Given the description of an element on the screen output the (x, y) to click on. 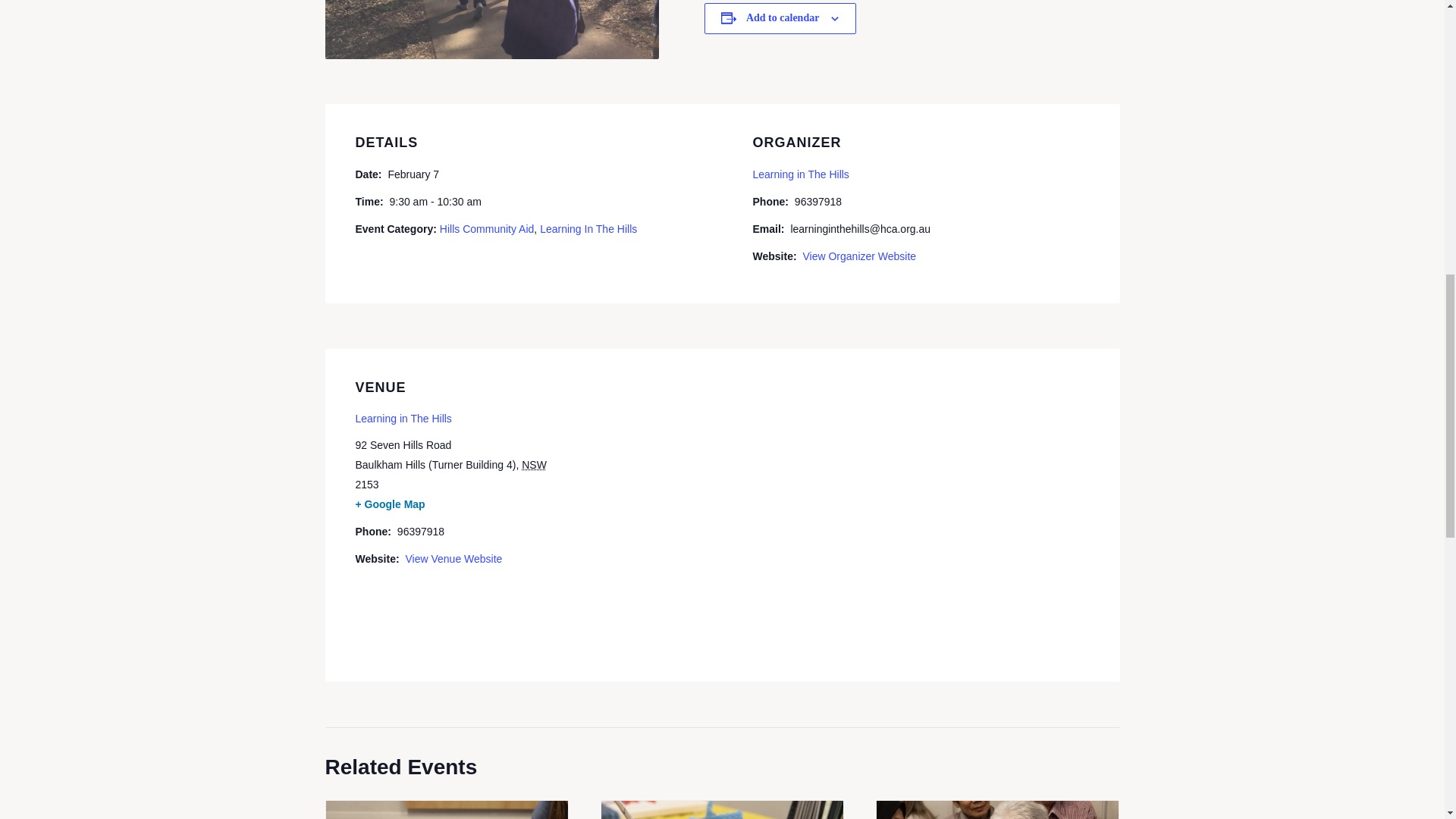
2024-02-07 (413, 174)
Learning in The Hills (800, 174)
Add to calendar (781, 18)
NSW (534, 464)
Click to view a Google Map (390, 503)
2024-02-07 (434, 201)
